Given the description of an element on the screen output the (x, y) to click on. 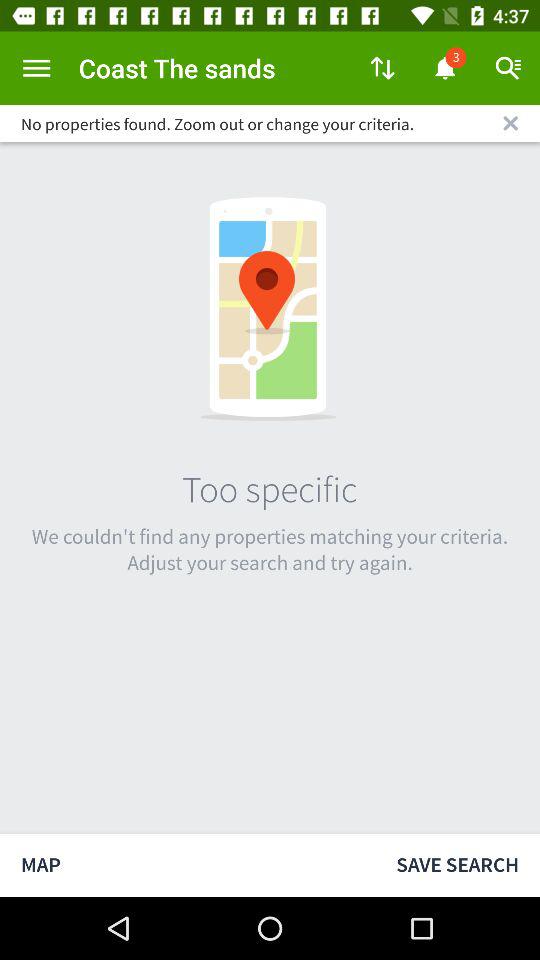
launch item next to coast the sands (36, 68)
